Given the description of an element on the screen output the (x, y) to click on. 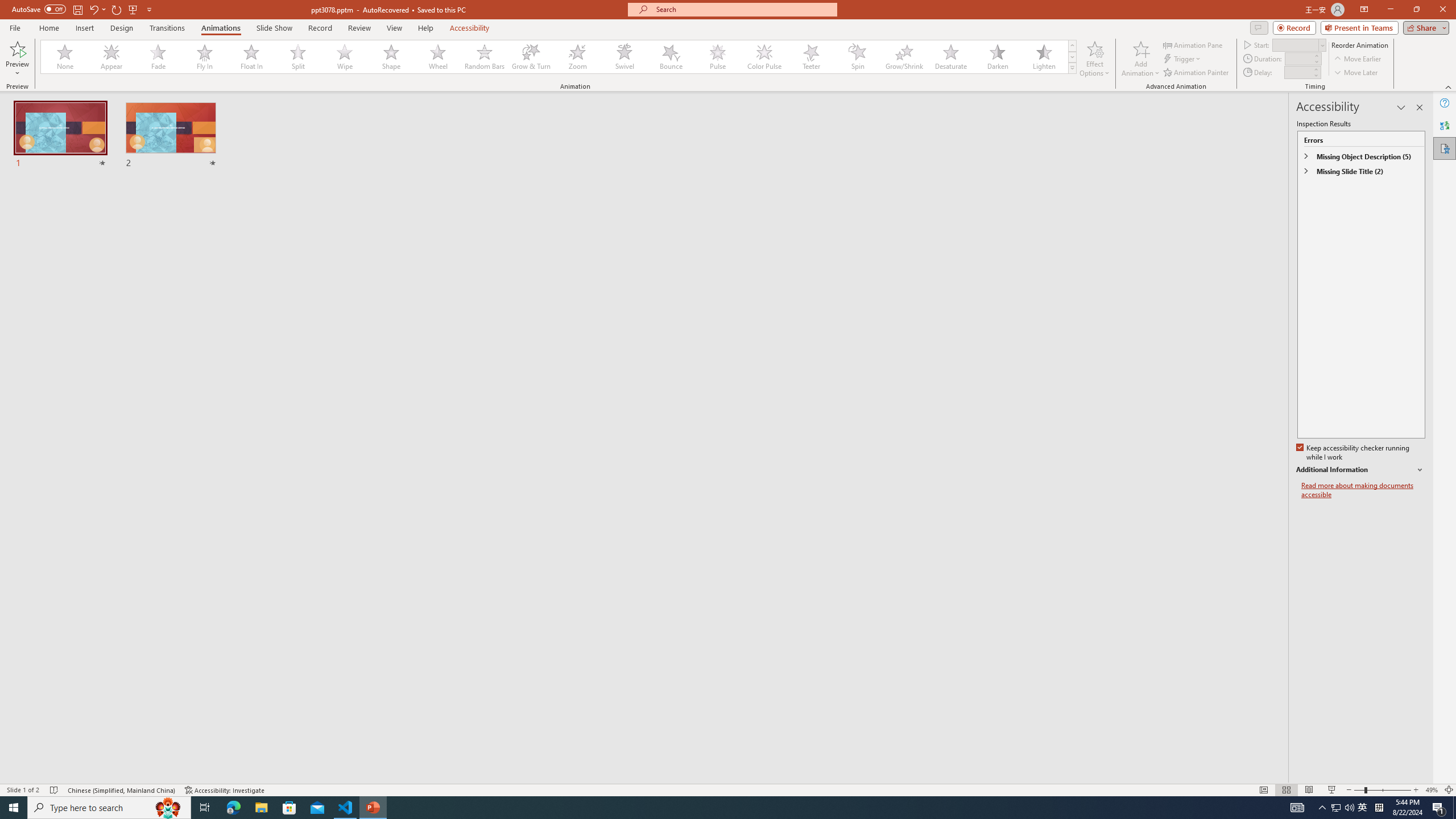
Split (298, 56)
Animation Delay (1297, 72)
Swivel (624, 56)
Effect Options (1094, 58)
Appear (111, 56)
Fade (158, 56)
Lighten (1043, 56)
